Given the description of an element on the screen output the (x, y) to click on. 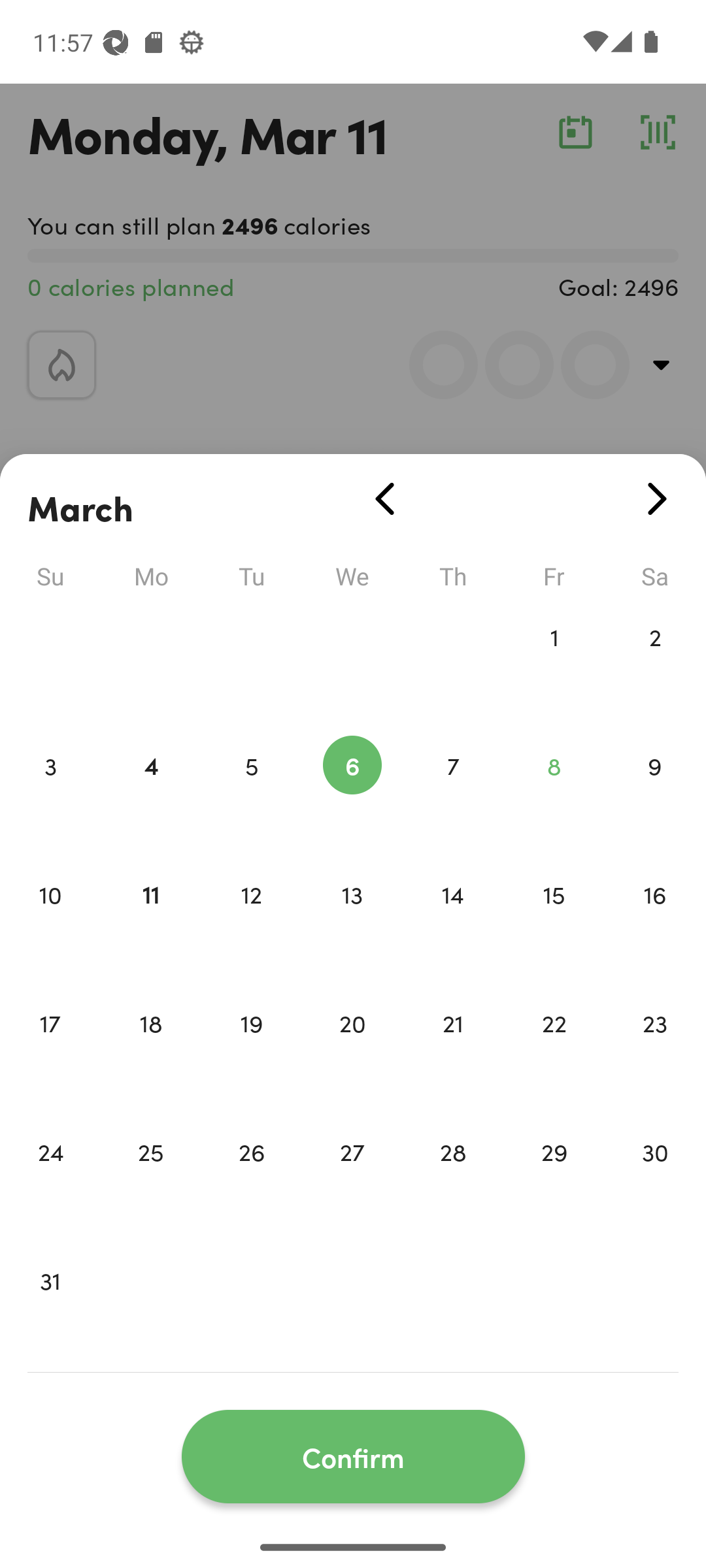
1 (554, 663)
2 (655, 663)
3 (50, 793)
4 (150, 793)
5 (251, 793)
6 (352, 793)
7 (453, 793)
8 (554, 793)
9 (655, 793)
10 (50, 921)
11 (150, 921)
12 (251, 921)
13 (352, 921)
14 (453, 921)
15 (554, 921)
16 (655, 921)
17 (50, 1050)
18 (150, 1050)
19 (251, 1050)
20 (352, 1050)
21 (453, 1050)
22 (554, 1050)
23 (655, 1050)
24 (50, 1178)
25 (150, 1178)
26 (251, 1178)
27 (352, 1178)
28 (453, 1178)
29 (554, 1178)
30 (655, 1178)
31 (50, 1307)
Confirm (353, 1456)
